Given the description of an element on the screen output the (x, y) to click on. 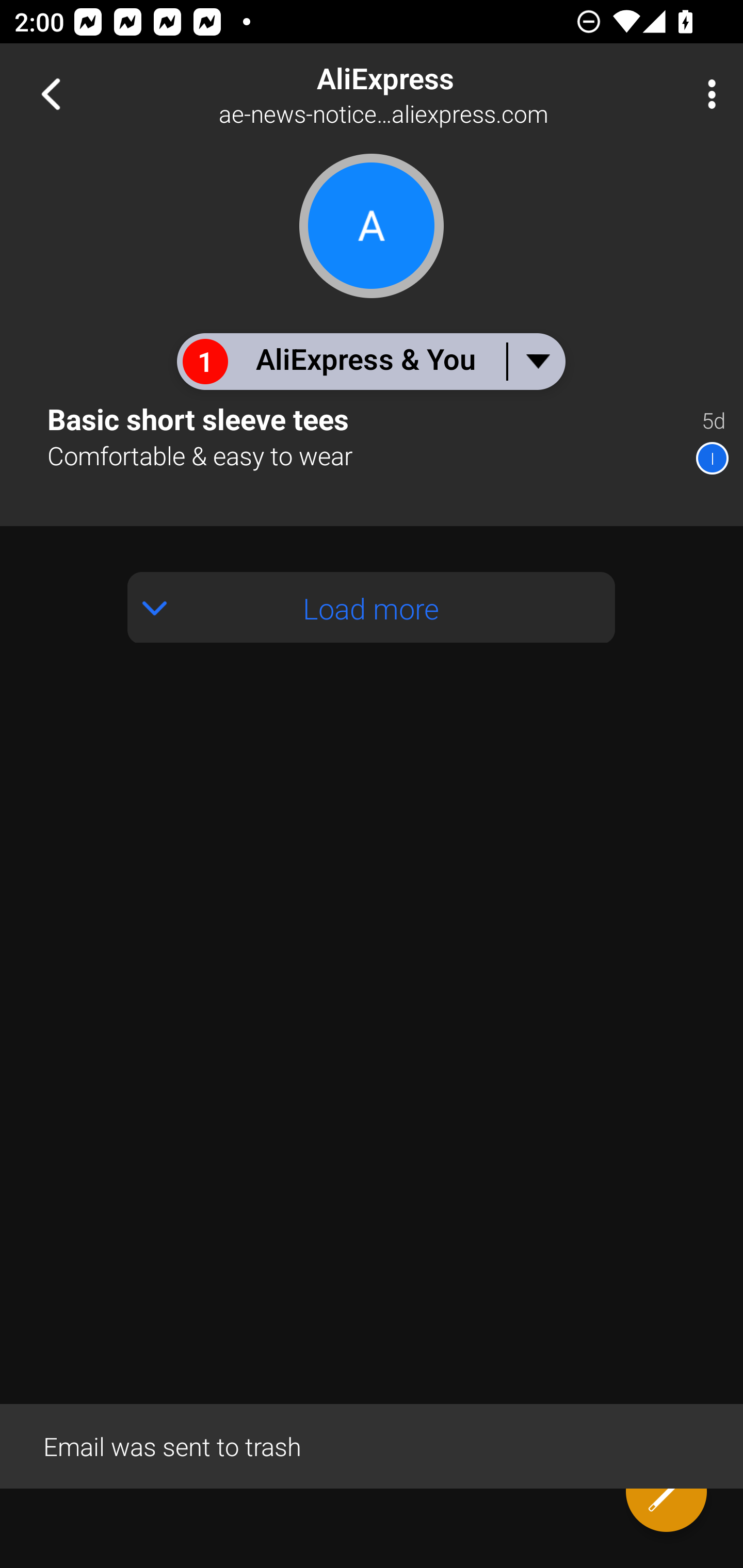
Navigate up (50, 93)
AliExpress ae-news-notice03@mail.aliexpress.com (436, 93)
More Options (706, 93)
1 AliExpress & You (370, 361)
Load more (371, 607)
Email was sent to trash (371, 1445)
